Given the description of an element on the screen output the (x, y) to click on. 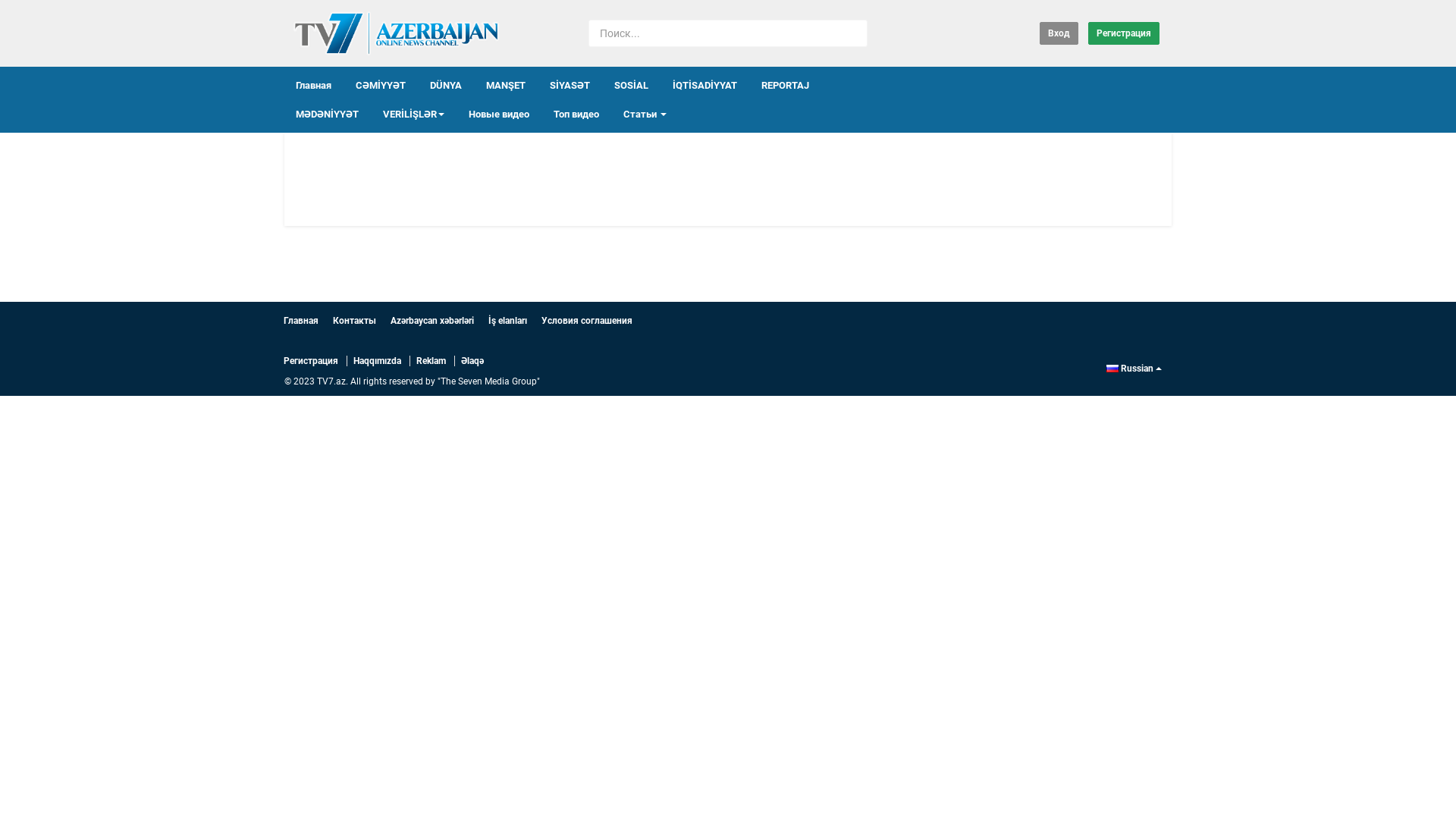
TV7.az Element type: hover (395, 33)
Russian Element type: text (1133, 368)
Reklam Element type: text (430, 360)
REPORTAJ Element type: text (784, 85)
Russian Element type: hover (1112, 368)
